Given the description of an element on the screen output the (x, y) to click on. 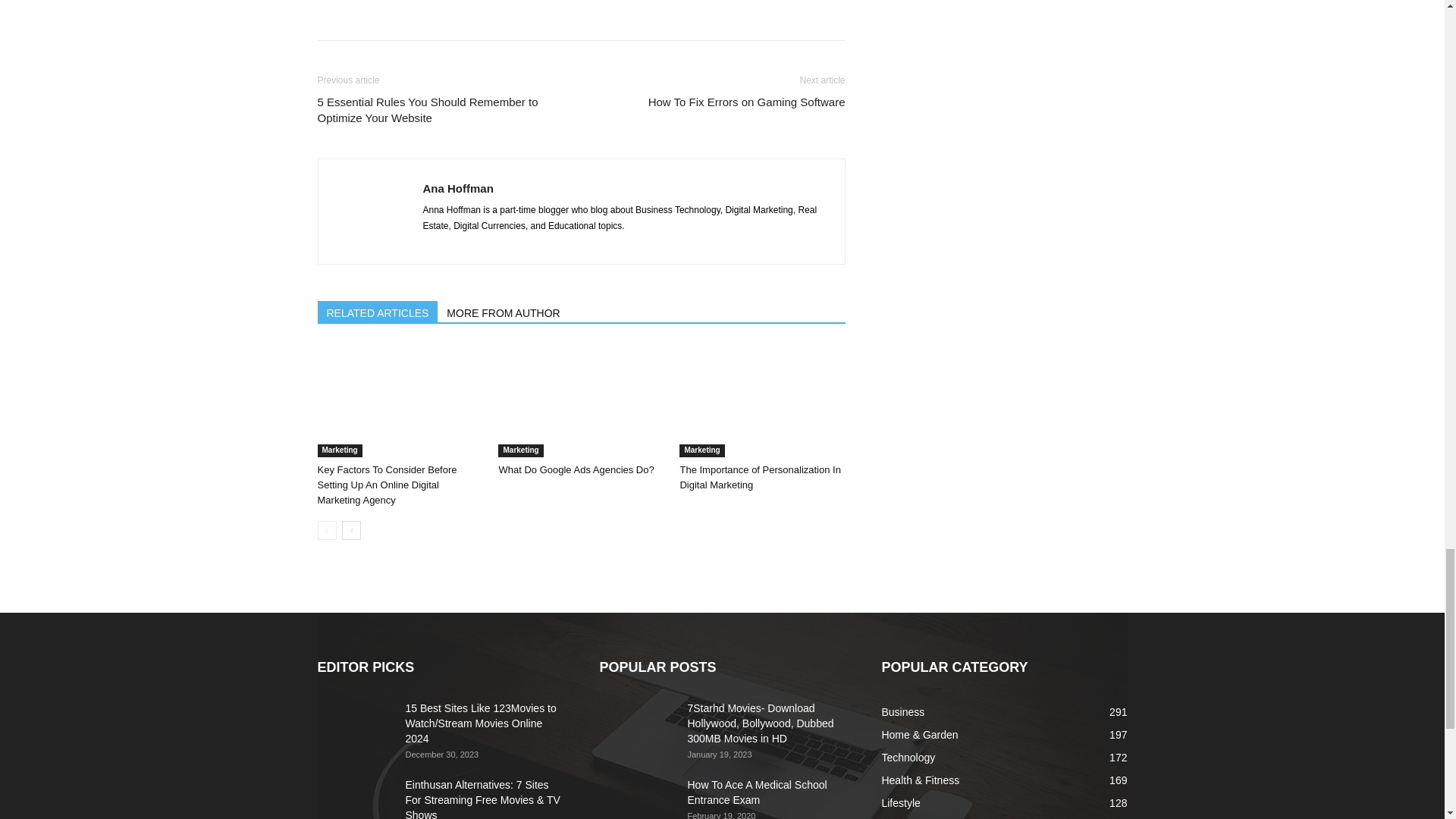
What Do Google Ads Agencies Do? (575, 469)
The Importance of Personalization In Digital Marketing (761, 400)
What Do Google Ads Agencies Do? (580, 400)
